Given the description of an element on the screen output the (x, y) to click on. 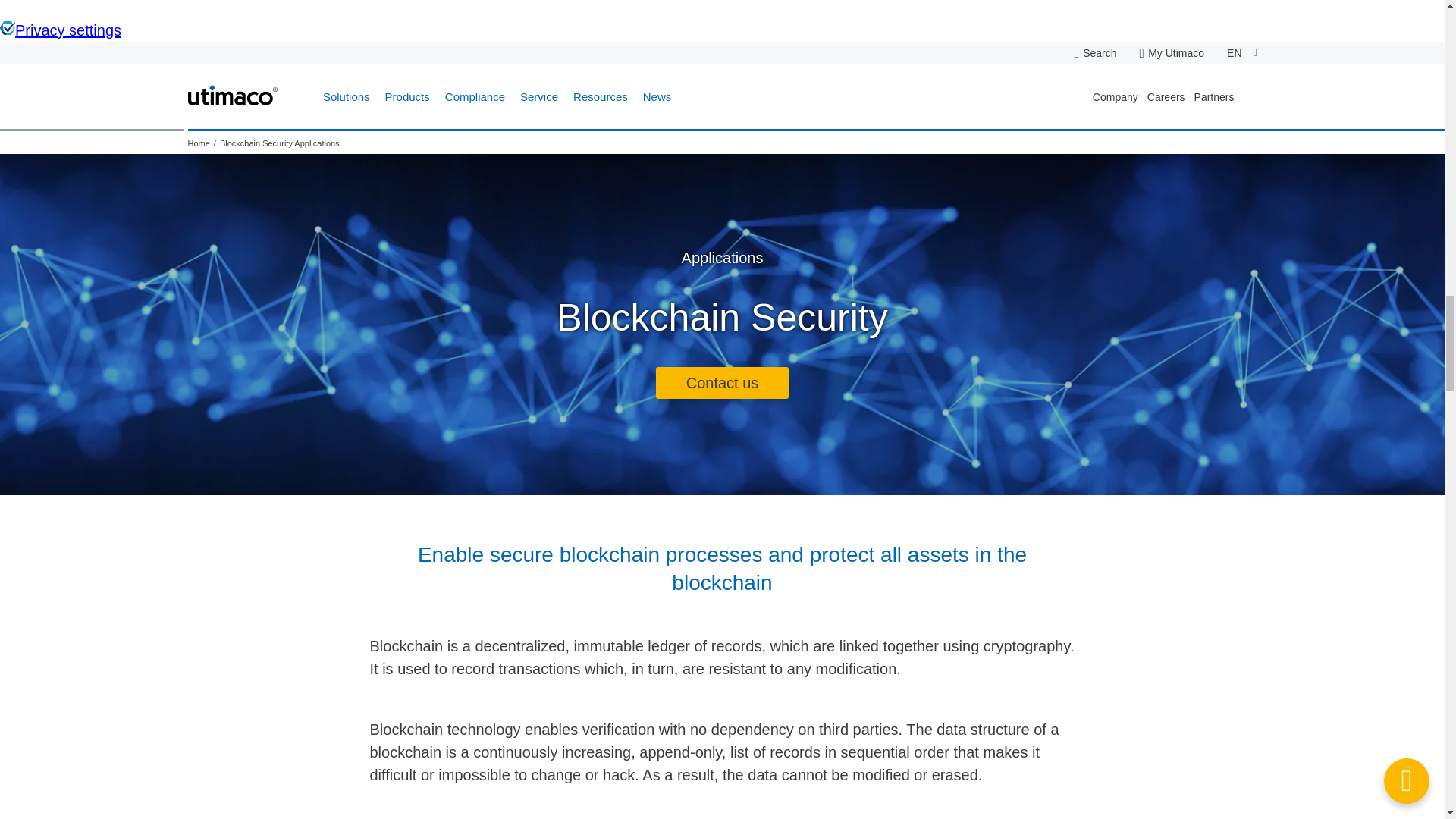
EN (1241, 52)
Solutions (346, 97)
Search (1099, 52)
Search (1099, 52)
My Utimaco (1172, 52)
My Utimaco (1172, 52)
